Given the description of an element on the screen output the (x, y) to click on. 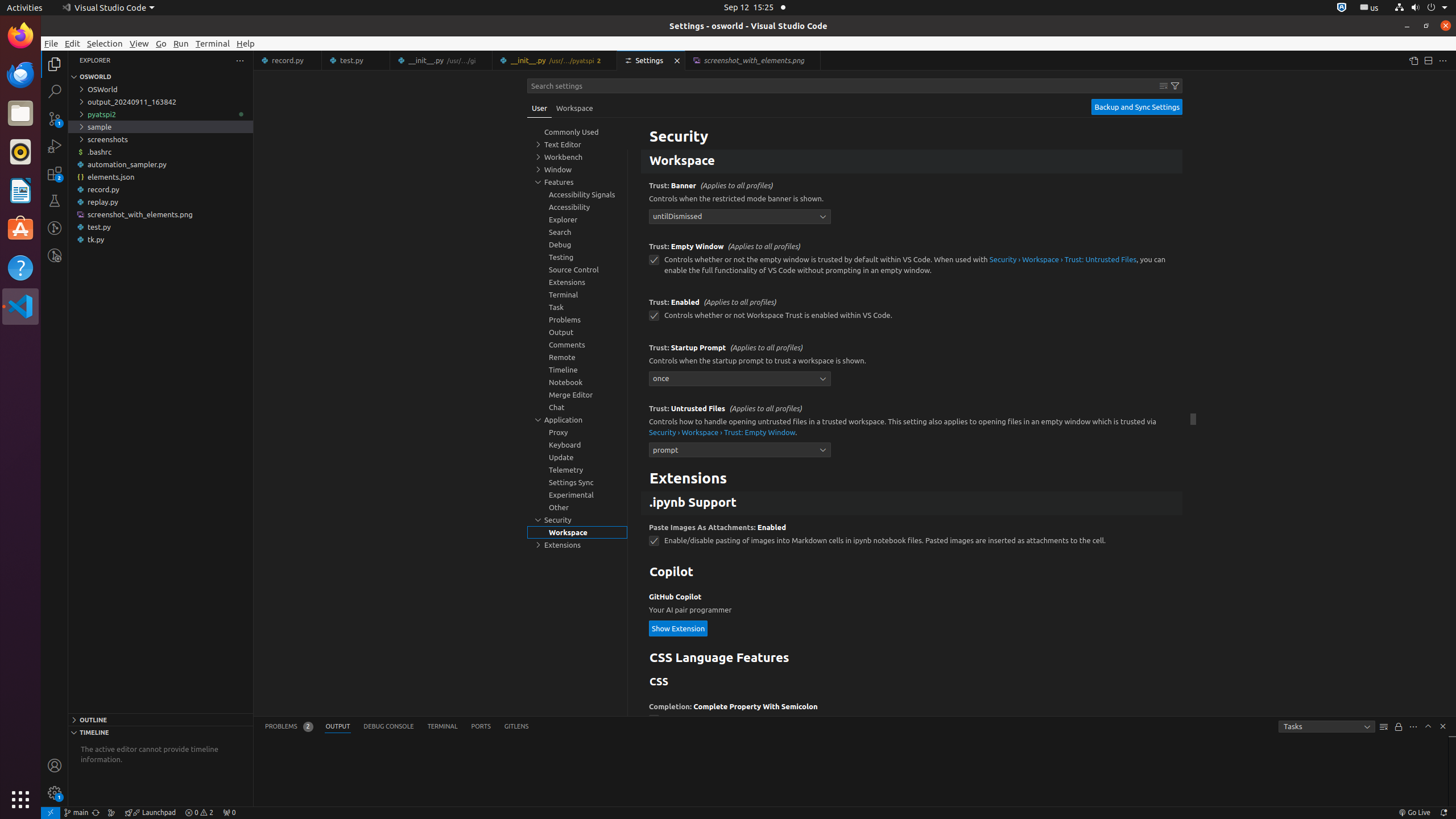
OSWorld (Git) - Synchronize Changes Element type: push-button (95, 812)
Keyboard, group Element type: tree-item (577, 444)
Terminal, group Element type: tree-item (577, 294)
